Given the description of an element on the screen output the (x, y) to click on. 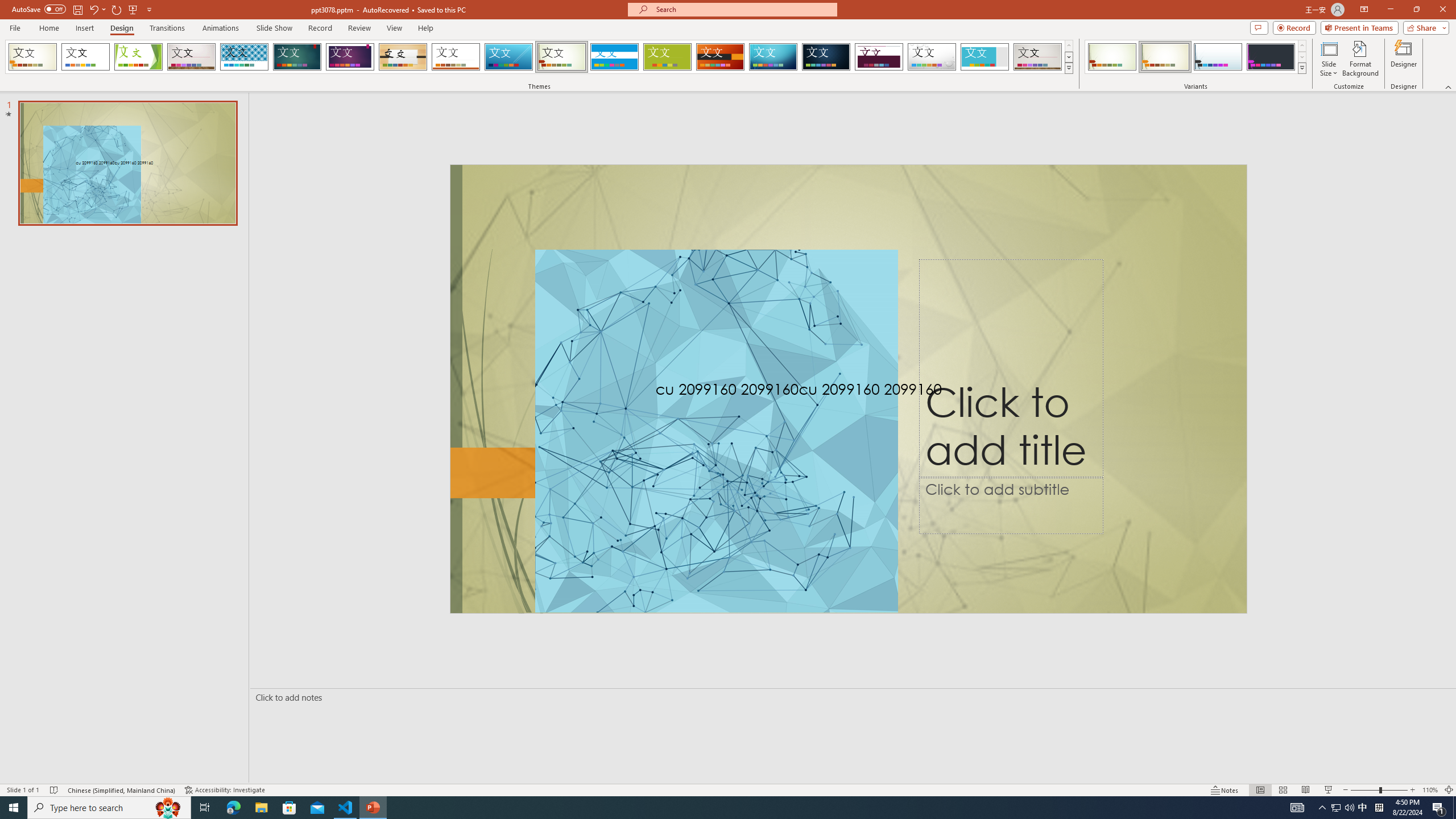
Slide Size (1328, 58)
Retrospect Loading Preview... (455, 56)
Wisp Variant 3 (1217, 56)
Variants (1301, 67)
